Given the description of an element on the screen output the (x, y) to click on. 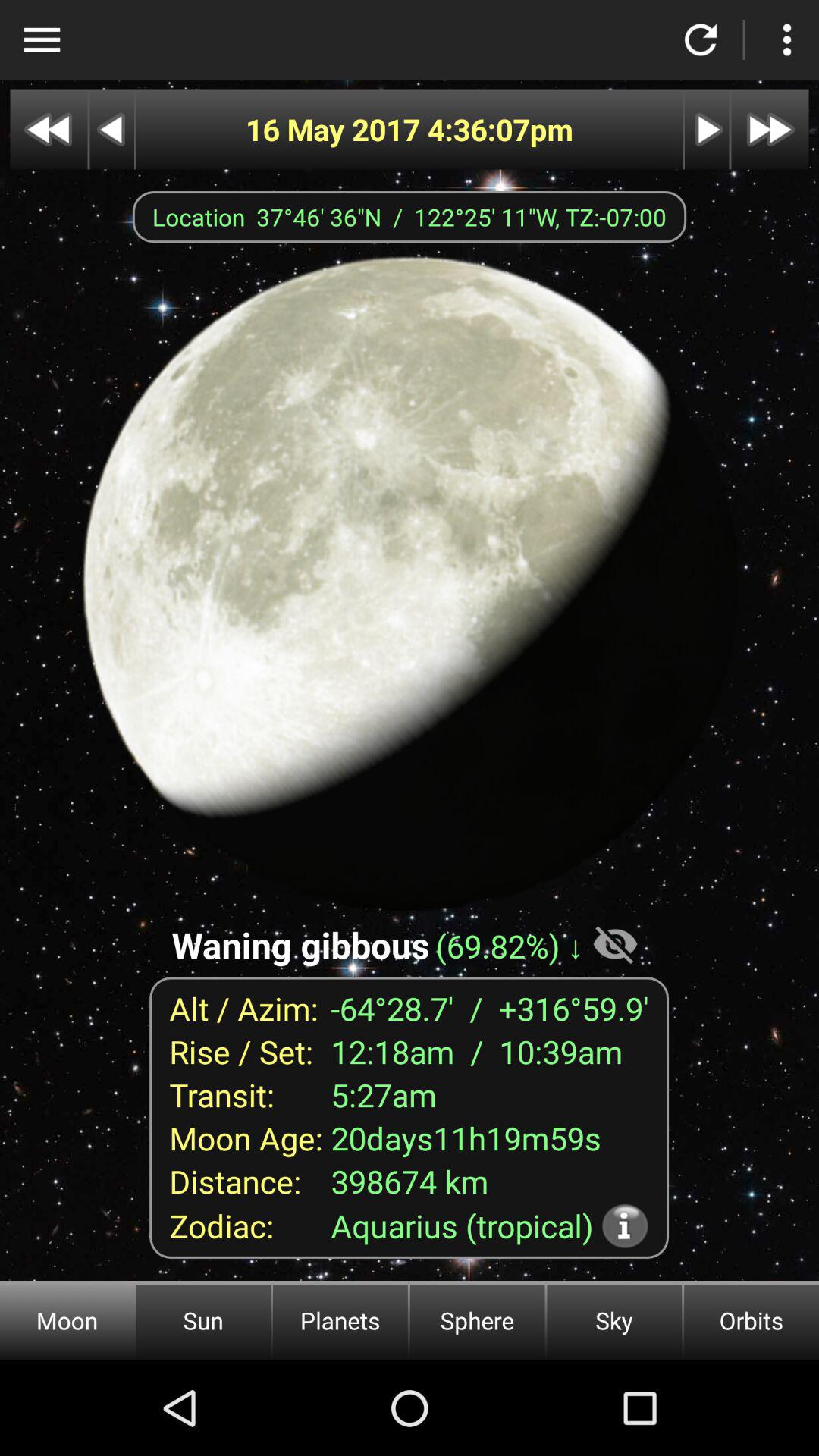
previous day (111, 129)
